Given the description of an element on the screen output the (x, y) to click on. 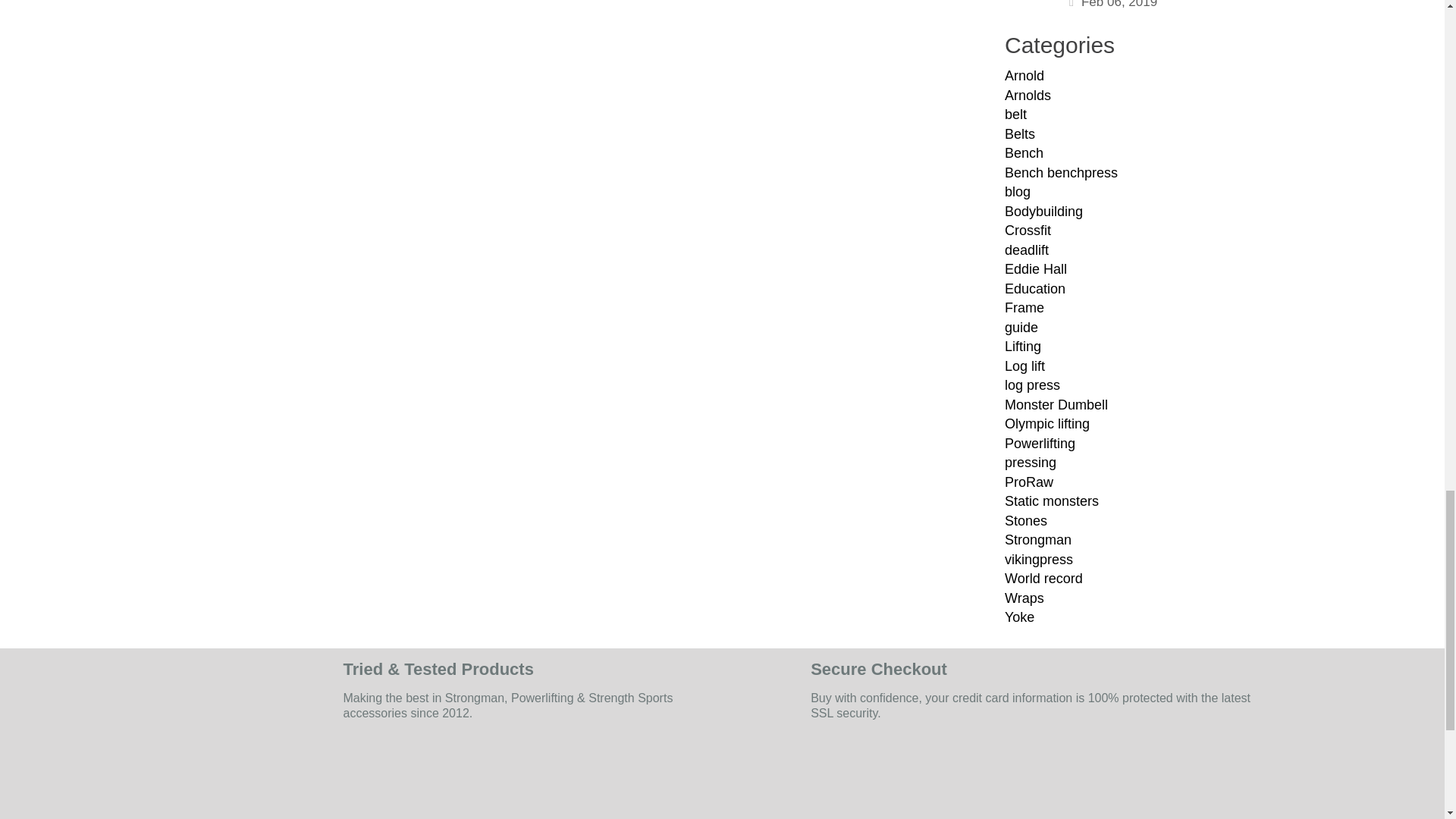
Show articles tagged Arnold (1023, 75)
Show articles tagged Bench (1023, 152)
Show articles tagged Belts (1019, 133)
Show articles tagged belt (1015, 114)
Show articles tagged Arnolds (1027, 95)
